Given the description of an element on the screen output the (x, y) to click on. 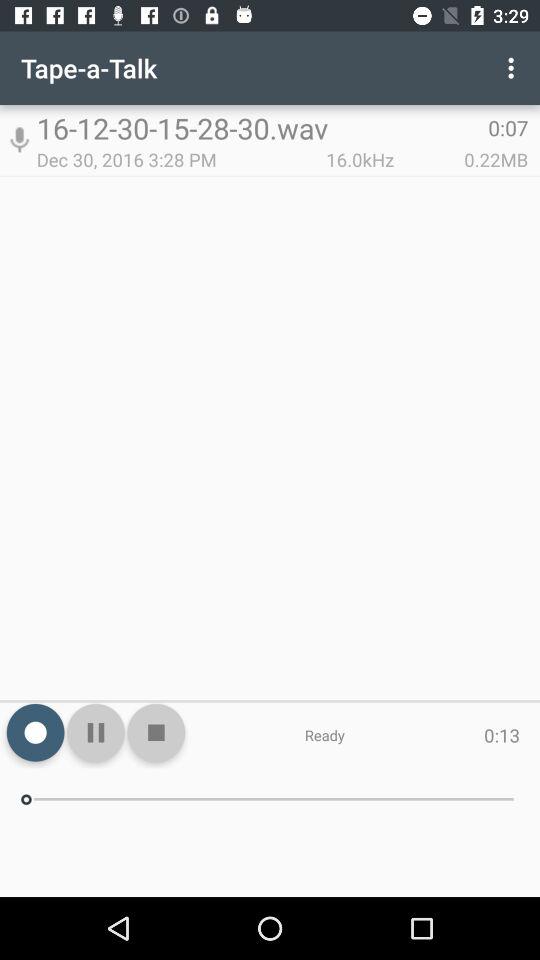
turn on the icon next to ready (156, 732)
